Given the description of an element on the screen output the (x, y) to click on. 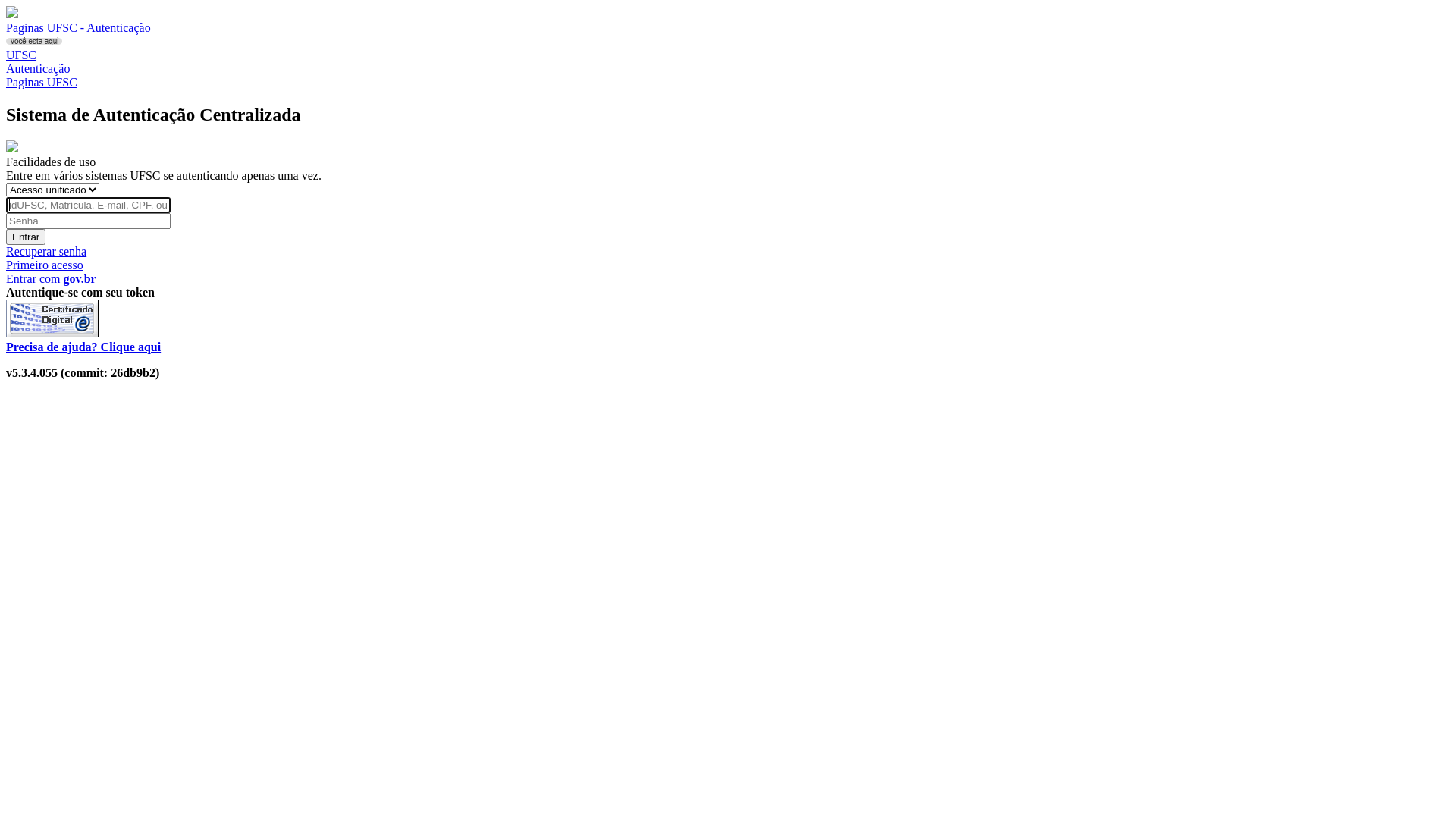
UFSC Element type: text (21, 54)
Precisa de ajuda? Clique aqui Element type: text (83, 346)
Entrar Element type: text (25, 236)
Primeiro acesso Element type: text (44, 264)
Recuperar senha Element type: text (46, 250)
Entrar com gov.br Element type: text (51, 278)
Paginas UFSC Element type: text (41, 81)
